Given the description of an element on the screen output the (x, y) to click on. 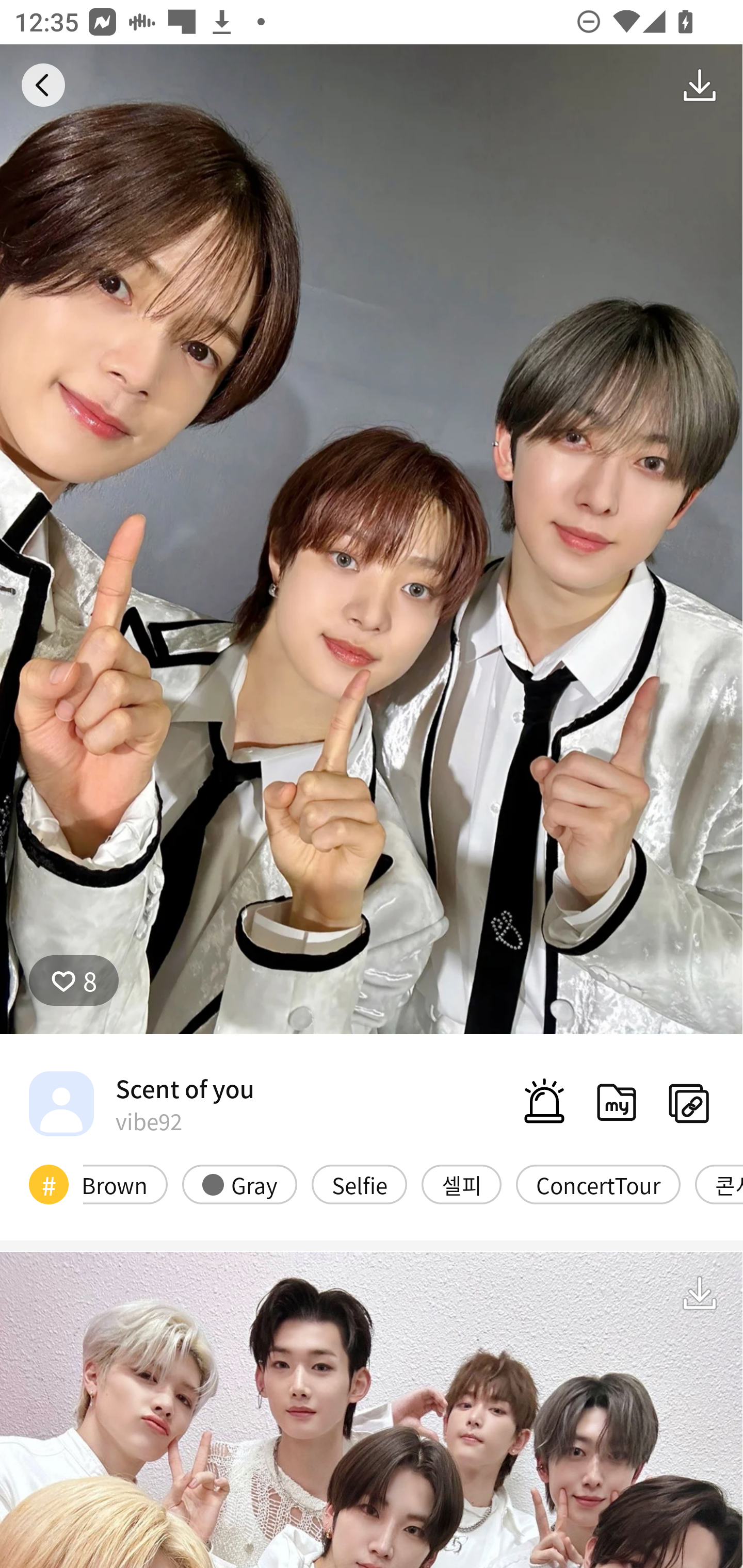
8 (73, 980)
Scent of you vibe92 (141, 1102)
Brown (125, 1184)
Gray (239, 1184)
Selfie (359, 1184)
셀피 (461, 1184)
ConcertTour (597, 1184)
